Given the description of an element on the screen output the (x, y) to click on. 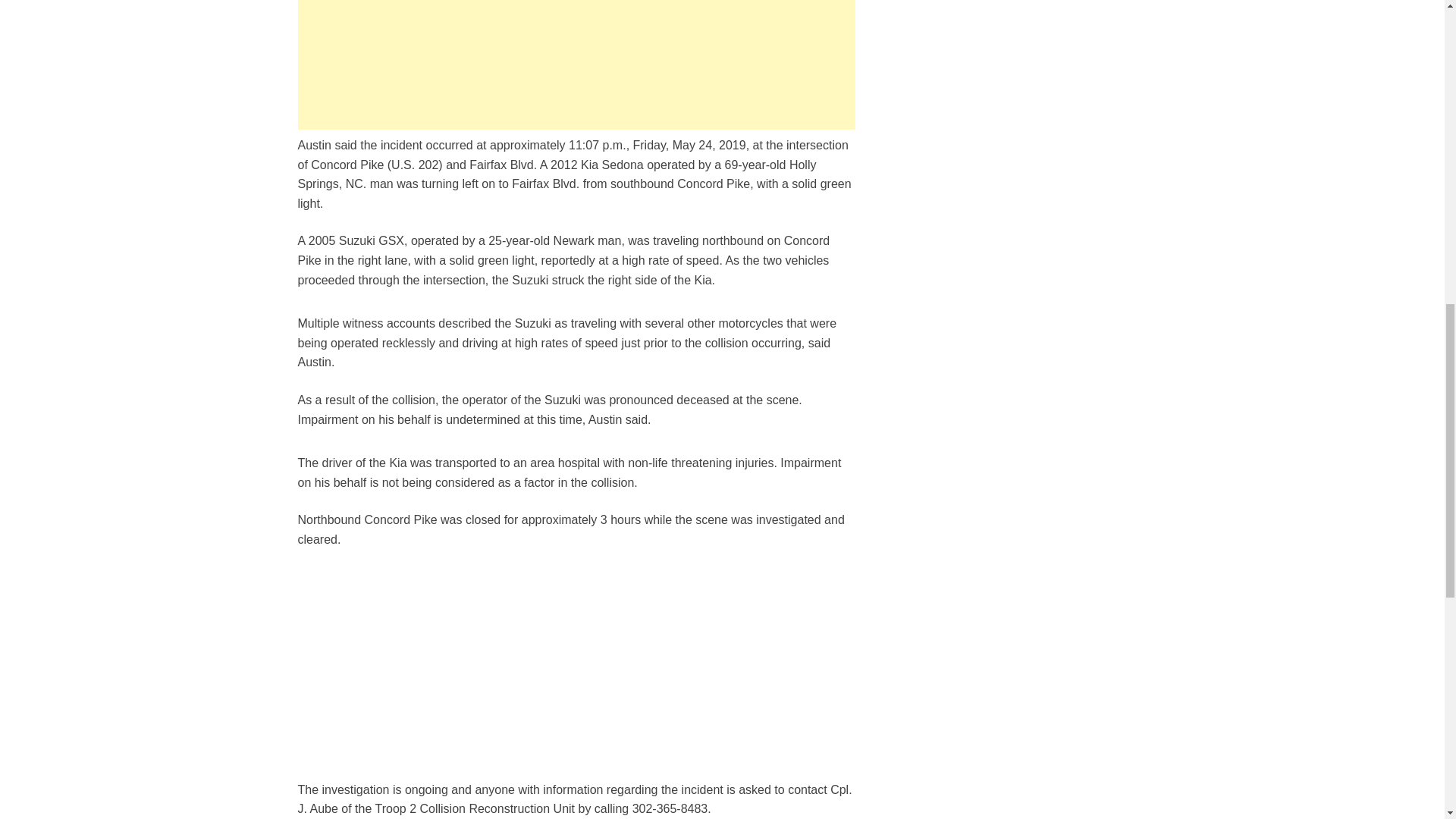
Advertisement (575, 674)
Advertisement (575, 64)
